Given the description of an element on the screen output the (x, y) to click on. 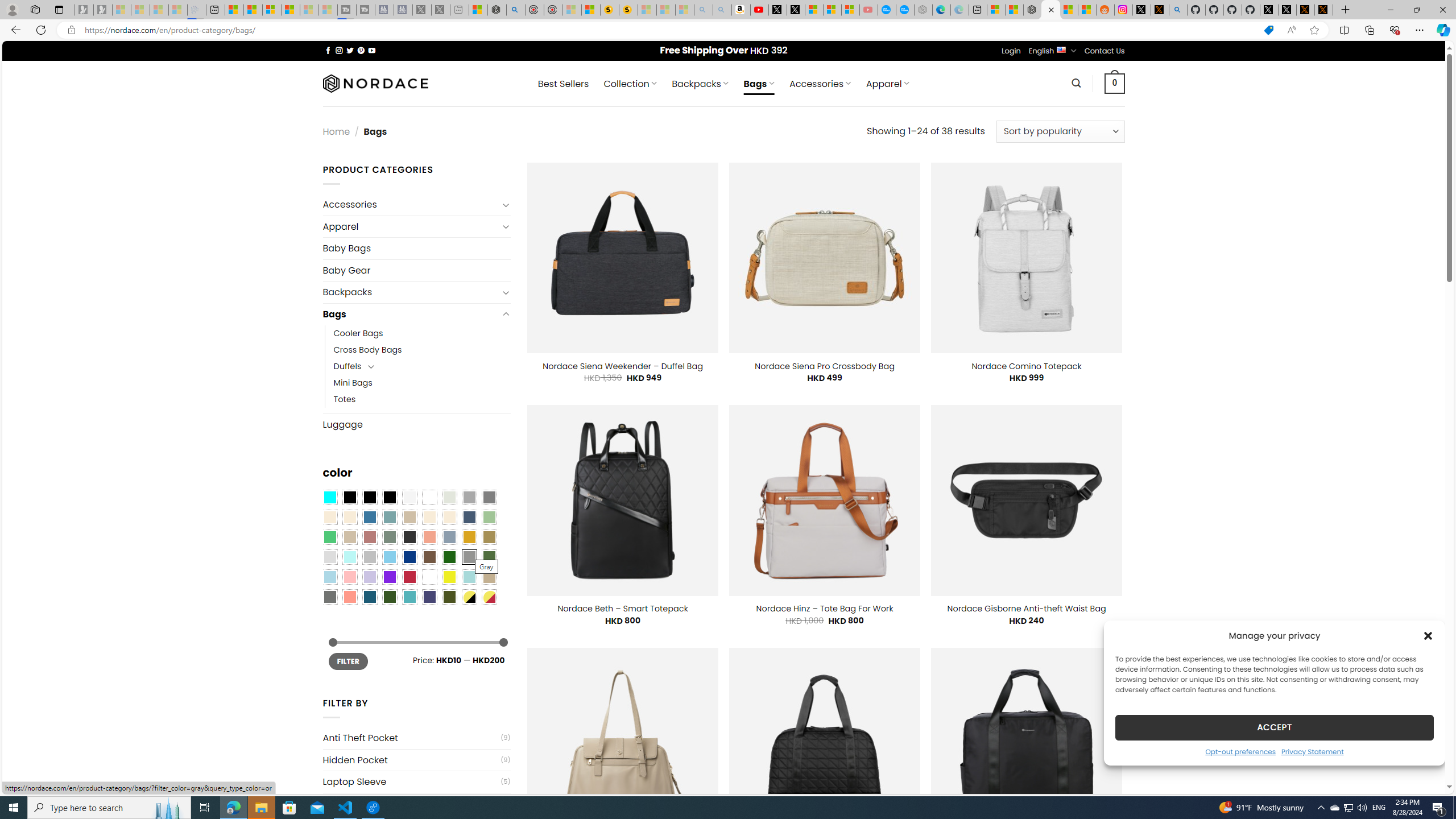
Gloom - YouTube - Sleeping (868, 9)
Laptop Sleeve (410, 781)
Totes (422, 398)
Anti Theft Pocket (410, 738)
Cream (449, 517)
Cross Body Bags (422, 349)
Light Green (488, 517)
